Given the description of an element on the screen output the (x, y) to click on. 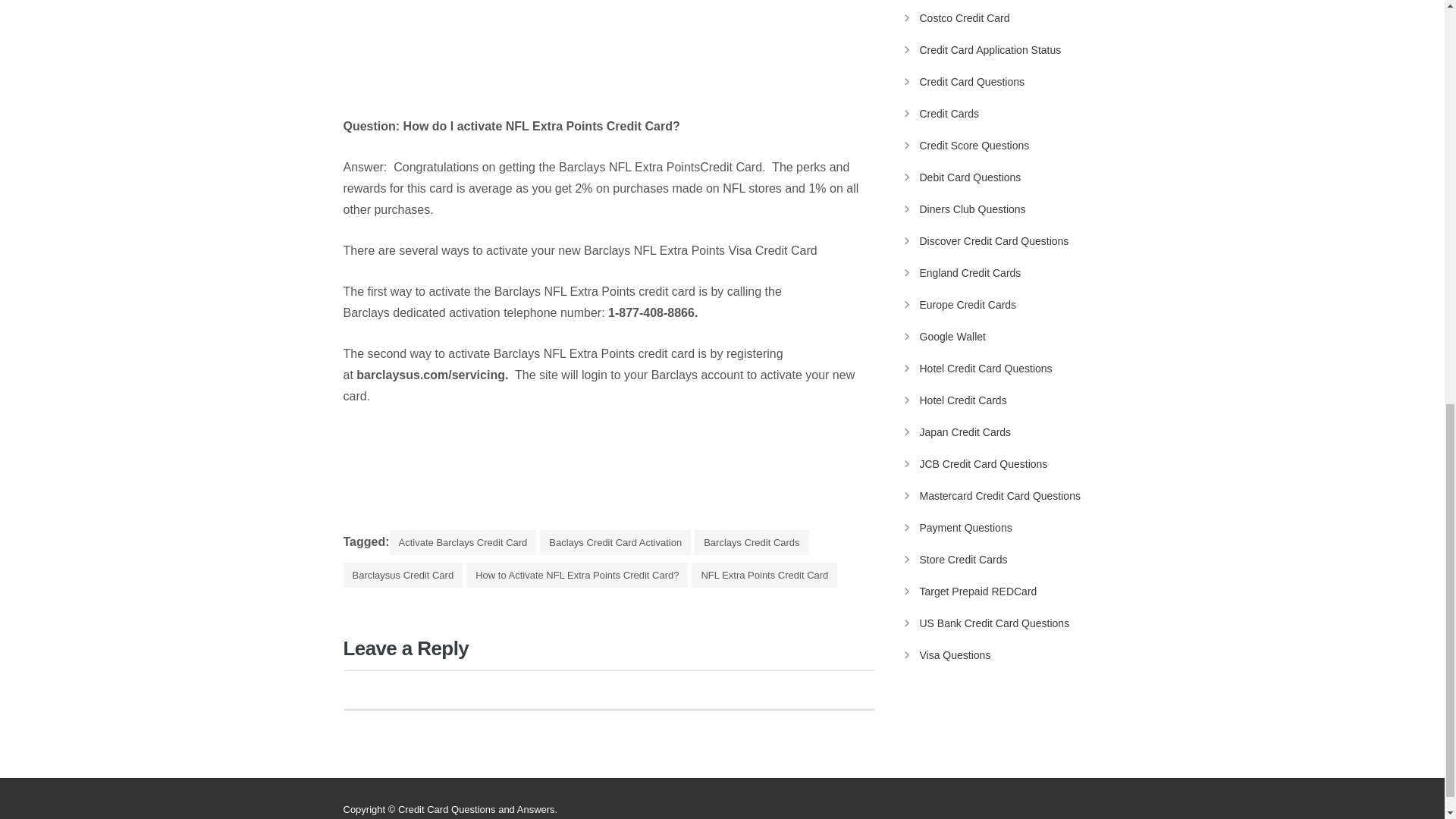
Activate Barclays Credit Card (463, 542)
NFL Extra Points Credit Card (764, 575)
Barclays Credit Cards (751, 542)
Barclaysus Credit Card (402, 575)
Advertisement (469, 54)
Baclays Credit Card Activation (615, 542)
How to Activate NFL Extra Points Credit Card? (576, 575)
